Given the description of an element on the screen output the (x, y) to click on. 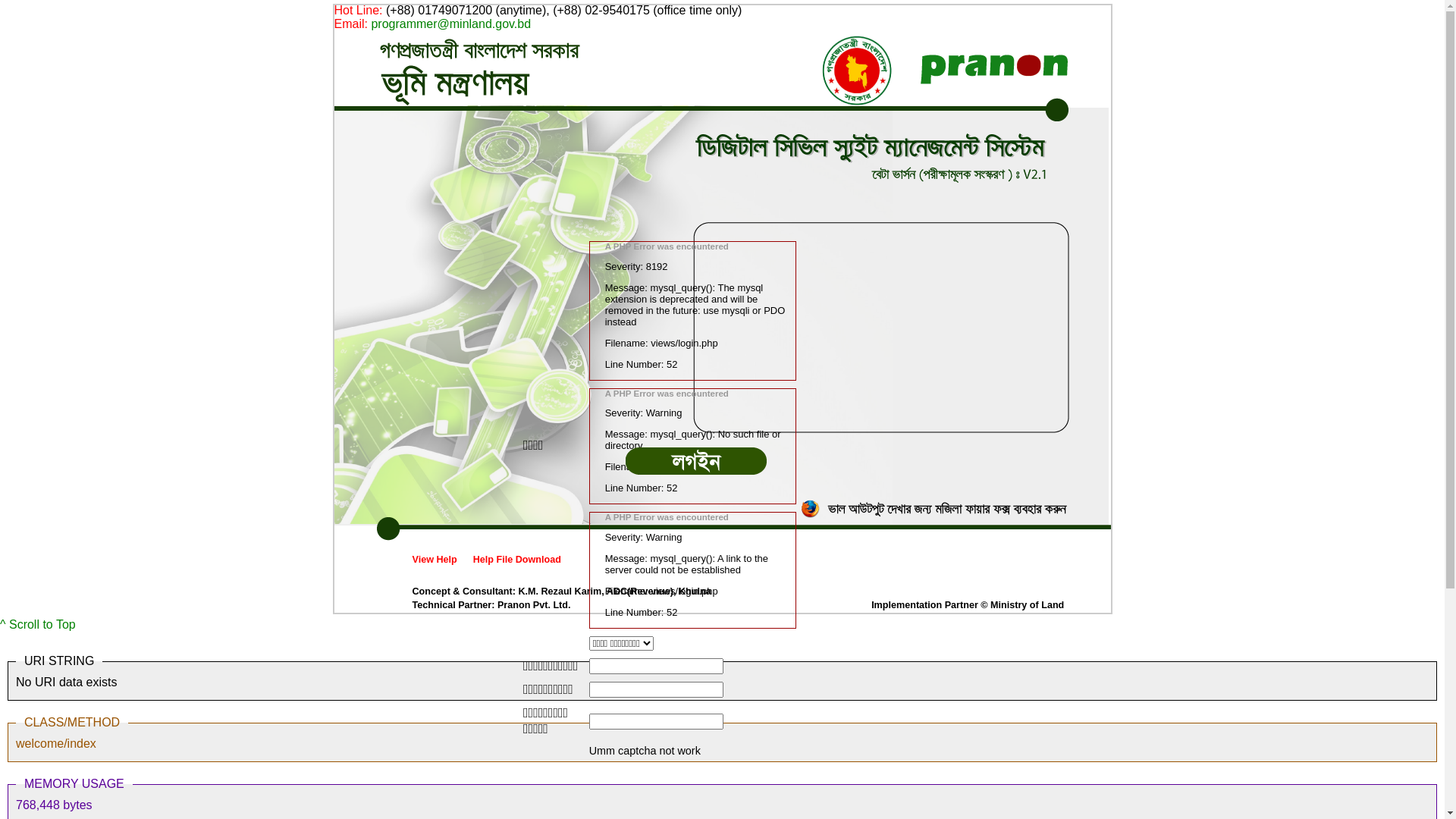
Ministry of Land Element type: text (1026, 604)
programmer@minland.gov.bd Element type: text (450, 23)
Pranon Pvt. Ltd. Element type: text (534, 604)
View Help Element type: text (434, 559)
Help File Download Element type: text (517, 559)
^ Scroll to Top Element type: text (37, 624)
